Given the description of an element on the screen output the (x, y) to click on. 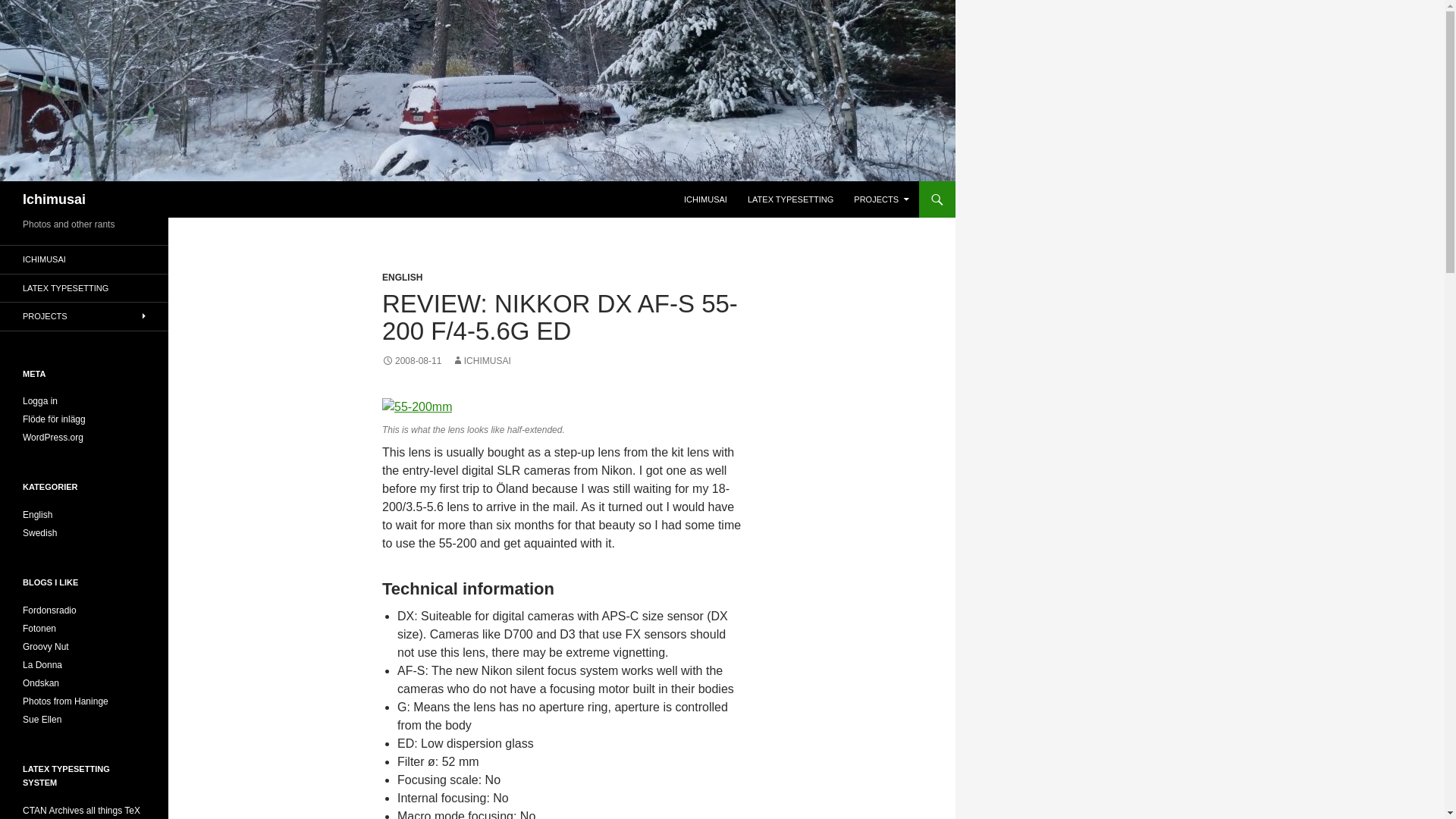
LATEX TYPESETTING (84, 288)
ICHIMUSAI (84, 259)
Linda Hedins blog (42, 719)
ENGLISH (401, 276)
ICHIMUSAI (705, 198)
55-200mm by ichimusai, on Flickr (416, 405)
ICHIMUSAI (481, 360)
2008-08-11 (411, 360)
All in Swedish (41, 683)
PROJECTS (881, 198)
En kollaborativ sajt om fotografering (39, 628)
Ichimusai (54, 198)
PROJECTS (84, 316)
My fiancees weblog (42, 665)
LATEX TYPESETTING (790, 198)
